Given the description of an element on the screen output the (x, y) to click on. 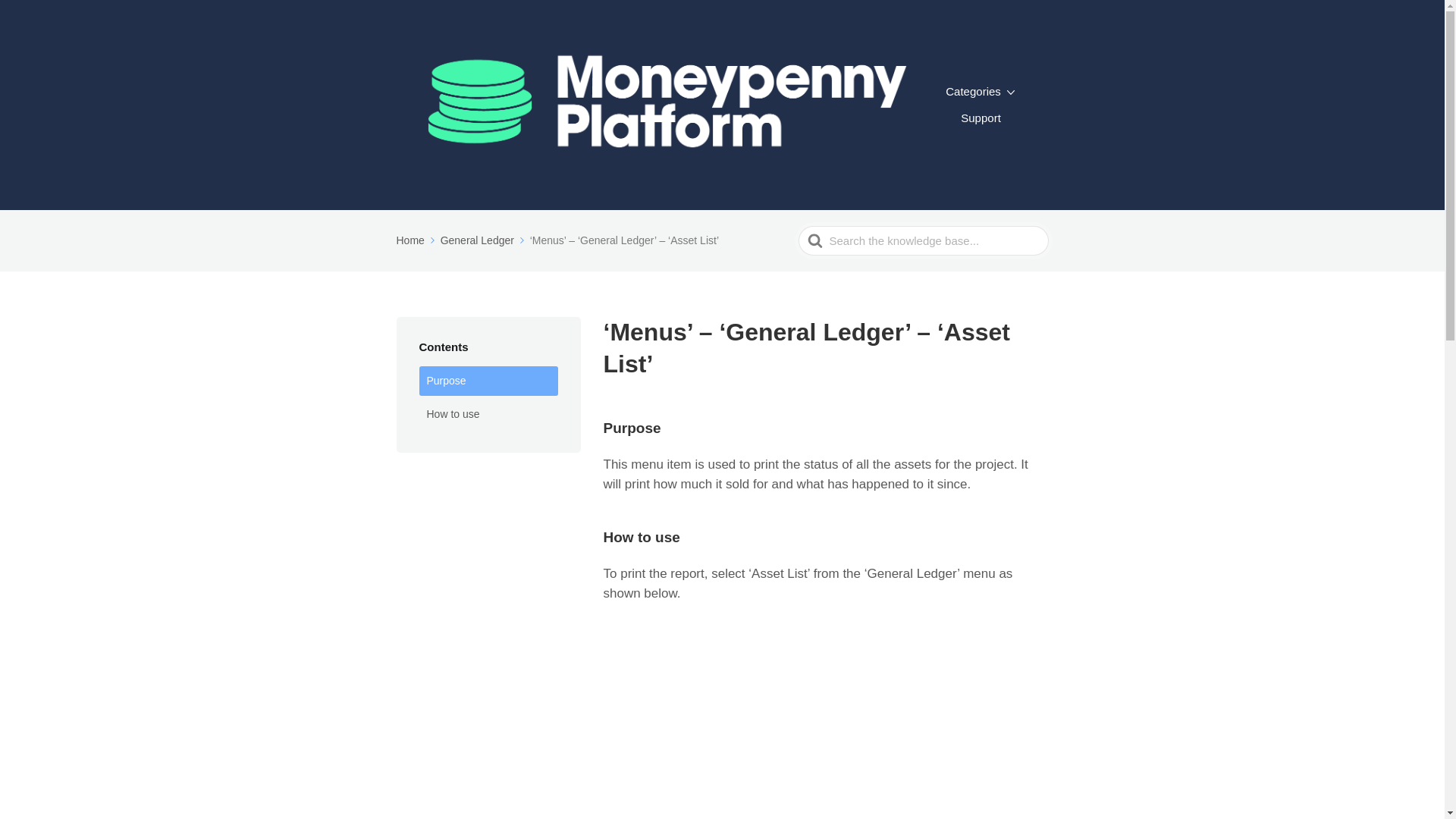
How to use (488, 414)
Categories (979, 90)
Purpose (488, 381)
Home (416, 240)
General Ledger (484, 240)
Support (981, 117)
